Given the description of an element on the screen output the (x, y) to click on. 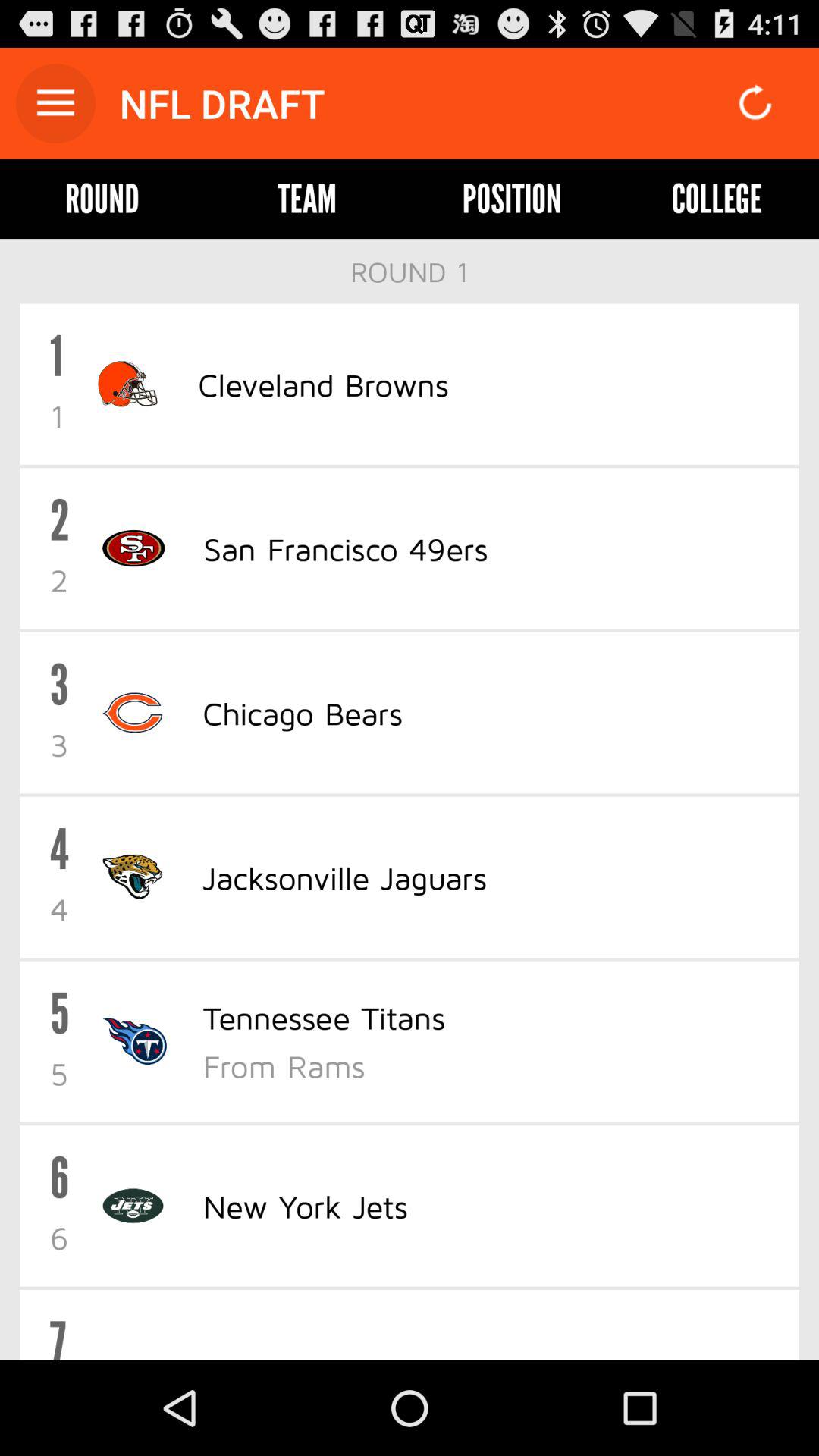
turn on icon above the round icon (55, 103)
